Given the description of an element on the screen output the (x, y) to click on. 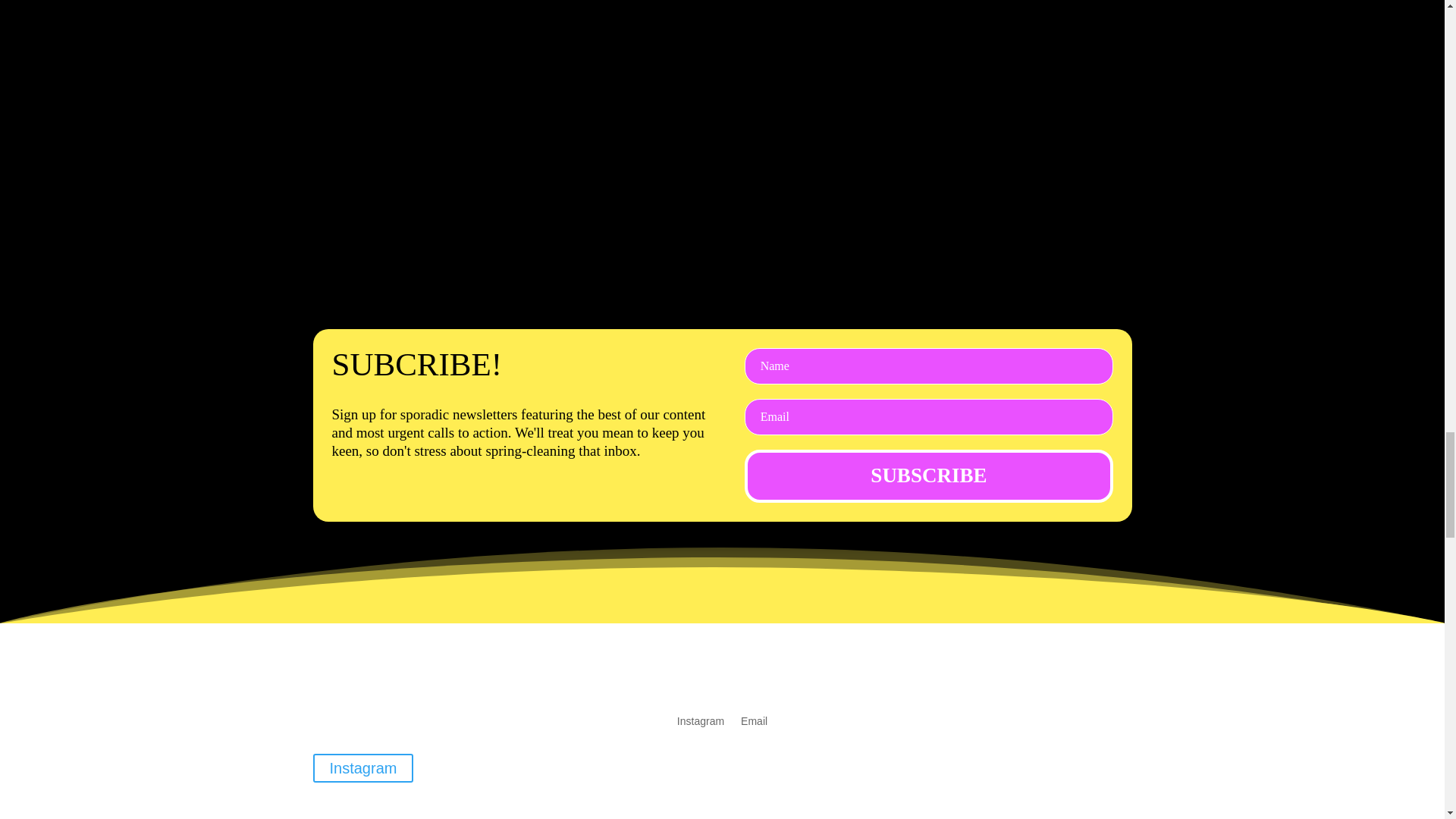
SUBSCRIBE (928, 475)
Email (754, 718)
Instagram (700, 718)
Instagram (363, 767)
